Given the description of an element on the screen output the (x, y) to click on. 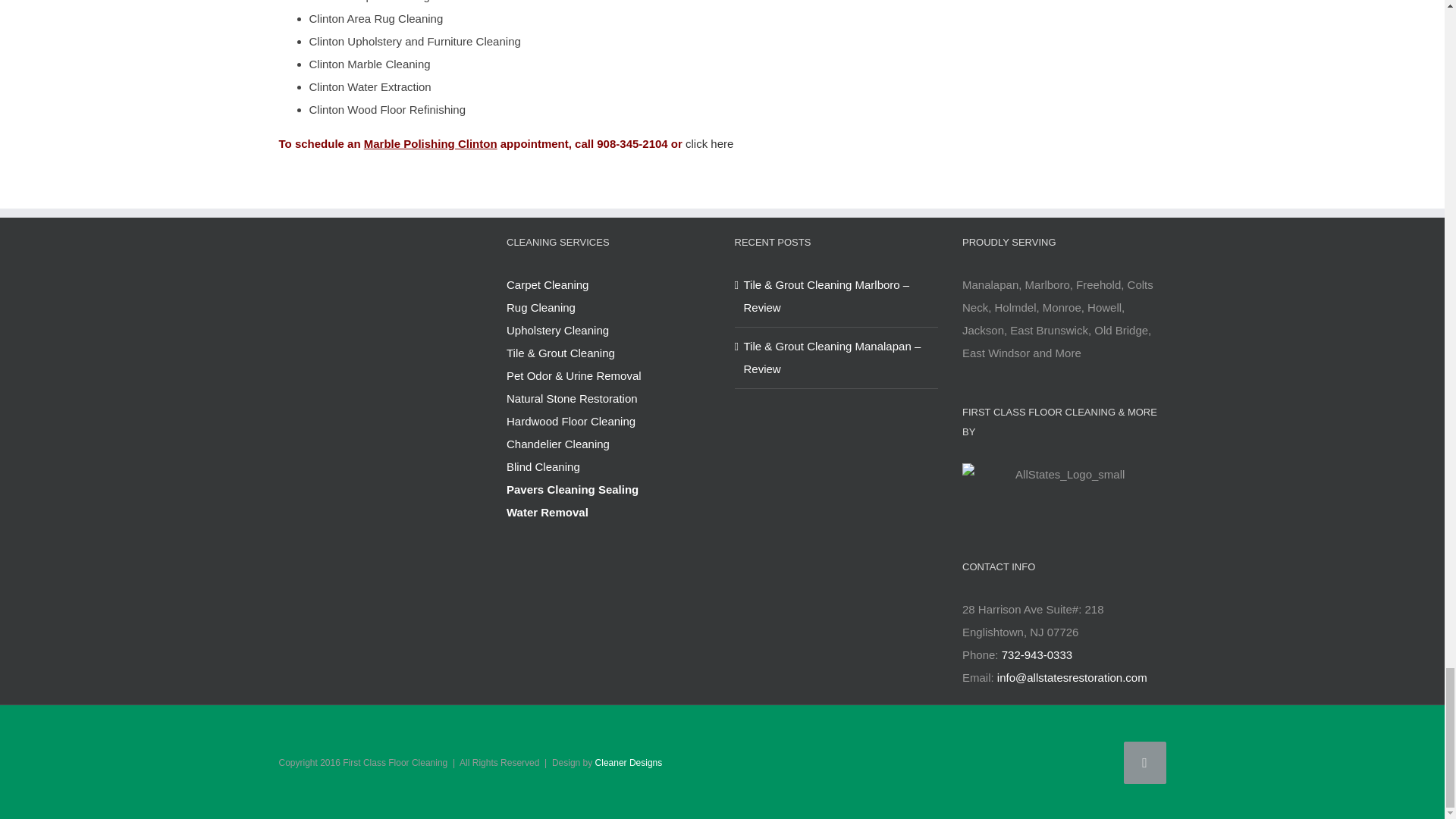
Upholstery Cleaning (608, 330)
Facebook (1145, 762)
Rug Cleaning (608, 307)
Carpet Cleaning (608, 284)
click here (709, 143)
